Given the description of an element on the screen output the (x, y) to click on. 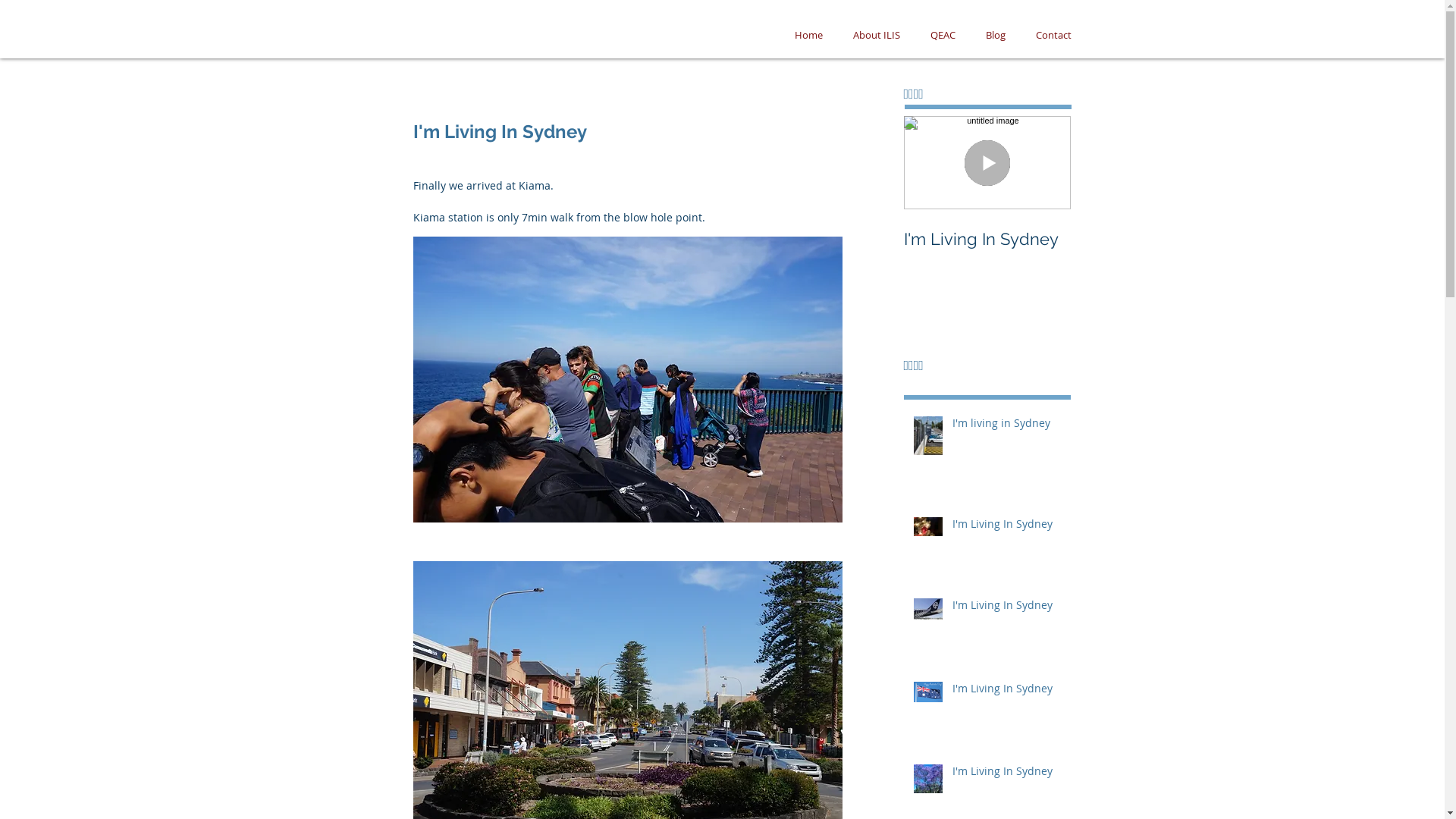
I'm Living In Sydney Element type: text (1006, 607)
I'm Living In Sydney Element type: text (986, 238)
Blog Element type: text (995, 34)
Contact Element type: text (1053, 34)
Home Element type: text (808, 34)
I'm Living In Sydney Element type: text (1006, 526)
About ILIS Element type: text (875, 34)
I'm Living In Sydney Element type: text (1006, 691)
QEAC Element type: text (941, 34)
I'm Living In Sydney Element type: text (1006, 773)
I'm living in Sydney Element type: text (1006, 425)
